Given the description of an element on the screen output the (x, y) to click on. 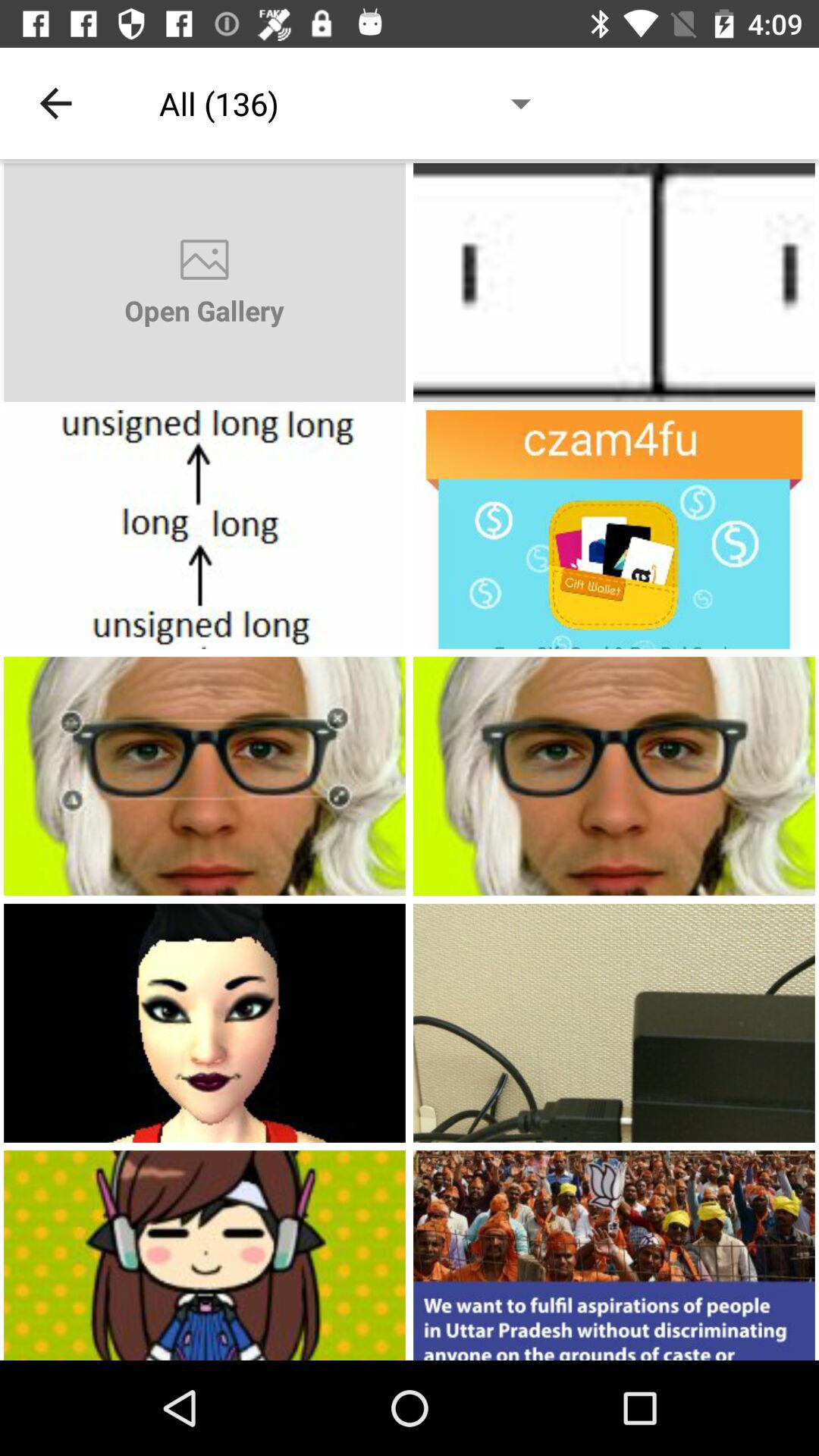
open photo (614, 775)
